Given the description of an element on the screen output the (x, y) to click on. 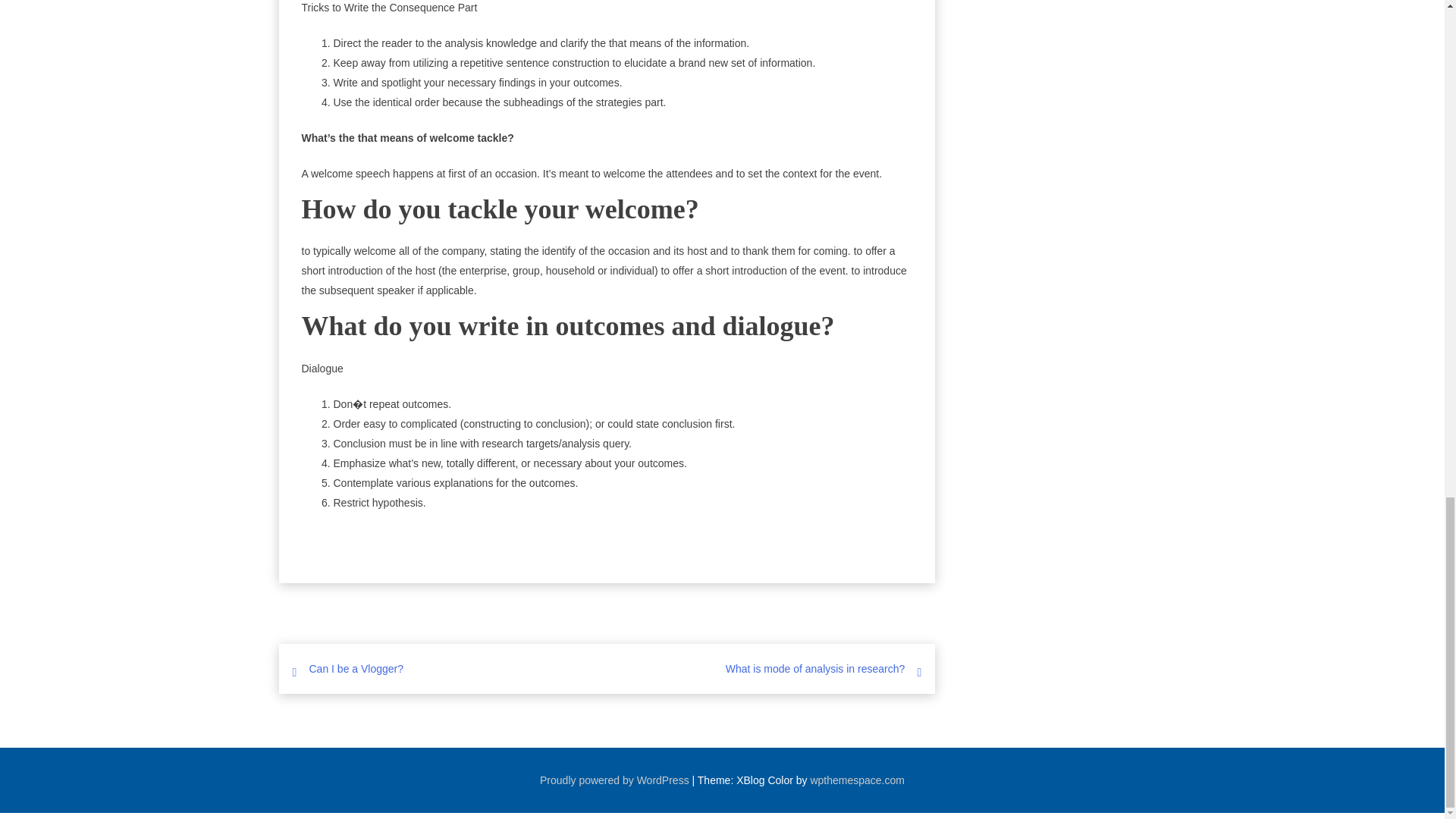
Proudly powered by WordPress (614, 780)
Can I be a Vlogger? (356, 668)
wpthemespace.com (856, 780)
What is mode of analysis in research? (815, 668)
